Given the description of an element on the screen output the (x, y) to click on. 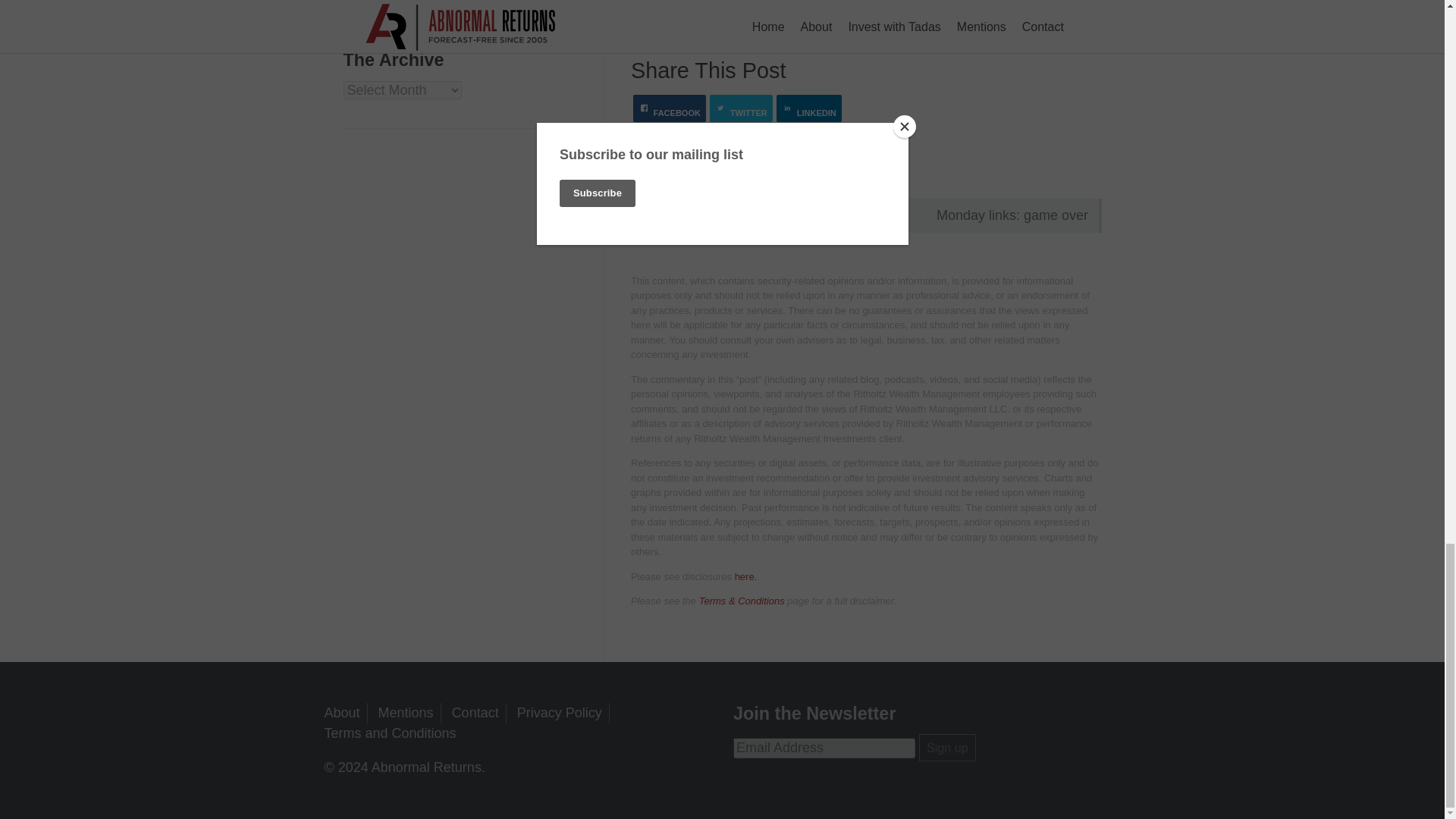
FACEBOOK (669, 108)
TWITTER (741, 108)
Terms and Conditions (390, 733)
here. (746, 576)
About (341, 712)
Mentions (405, 712)
Sunday links: ETF explosion (745, 215)
LINKEDIN (808, 108)
Sign up (946, 747)
Contact (475, 712)
Monday links: game over (987, 215)
Sign up (946, 747)
Privacy Policy (559, 712)
